Given the description of an element on the screen output the (x, y) to click on. 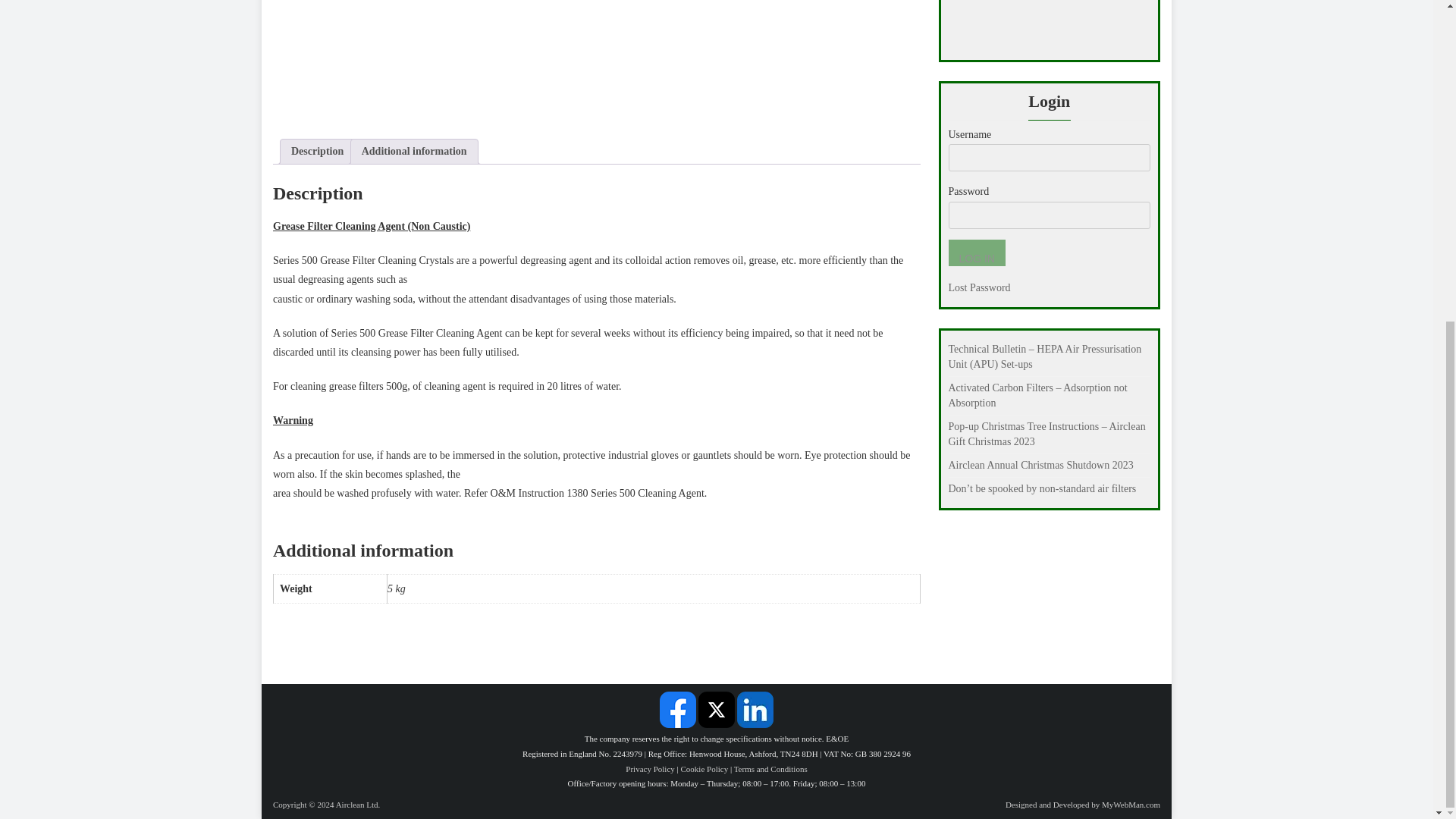
Log In (975, 252)
